Given the description of an element on the screen output the (x, y) to click on. 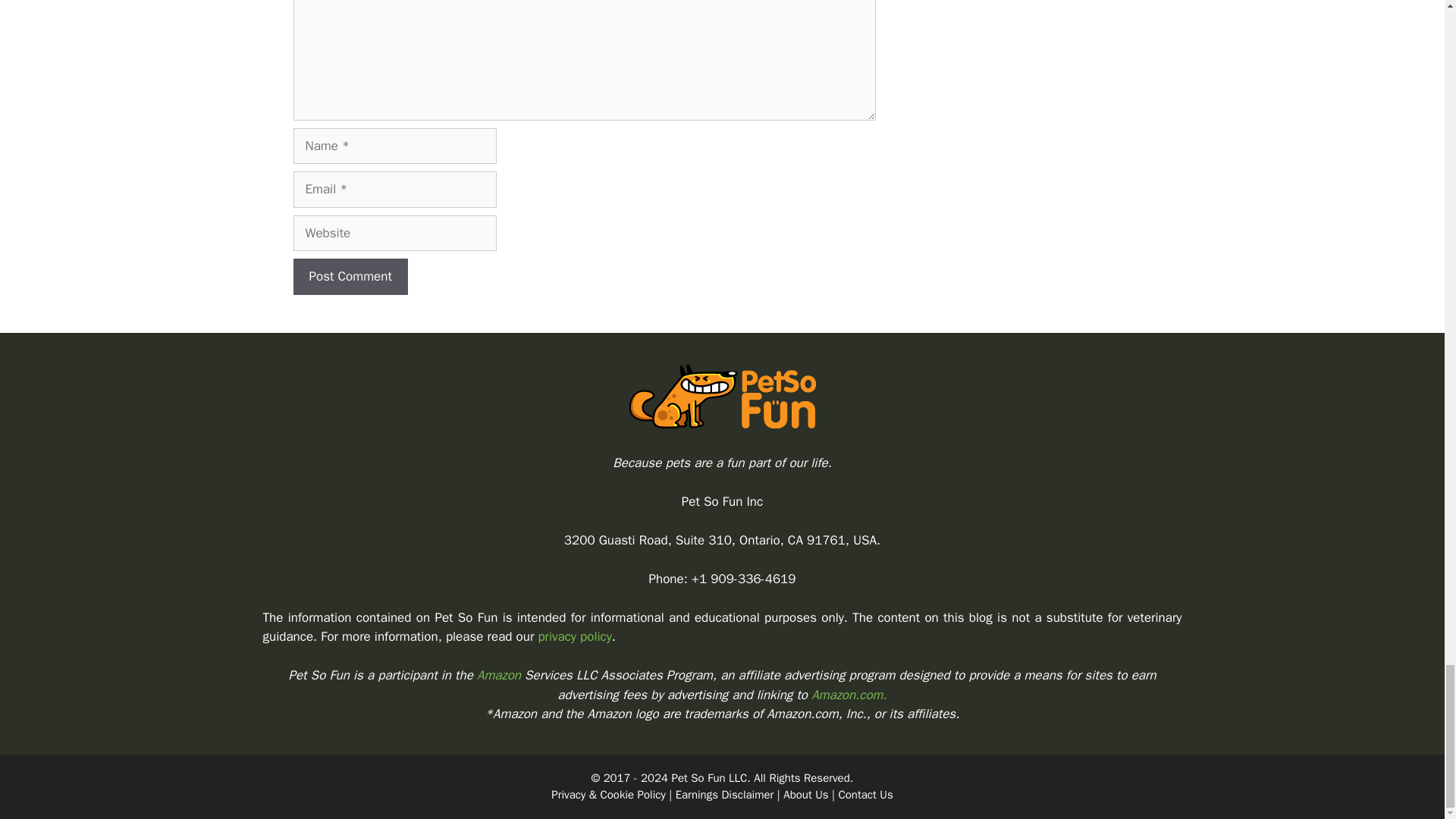
Post Comment (349, 276)
Post Comment (349, 276)
